Given the description of an element on the screen output the (x, y) to click on. 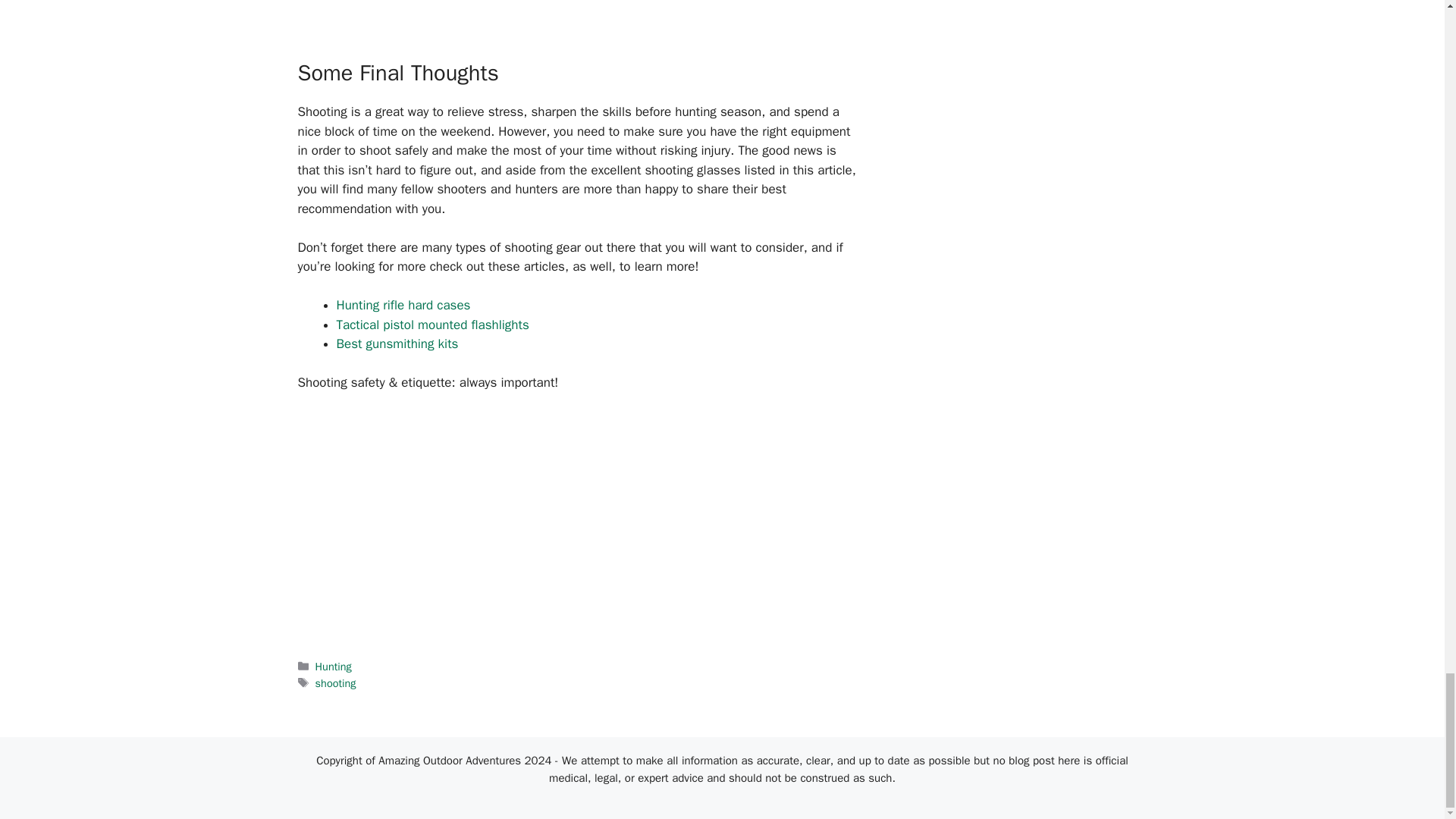
Tactical pistol mounted flashlights (432, 324)
Hunting rifle hard cases (403, 304)
Hunting (333, 666)
shooting (335, 683)
Best gunsmithing kits (397, 343)
